Given the description of an element on the screen output the (x, y) to click on. 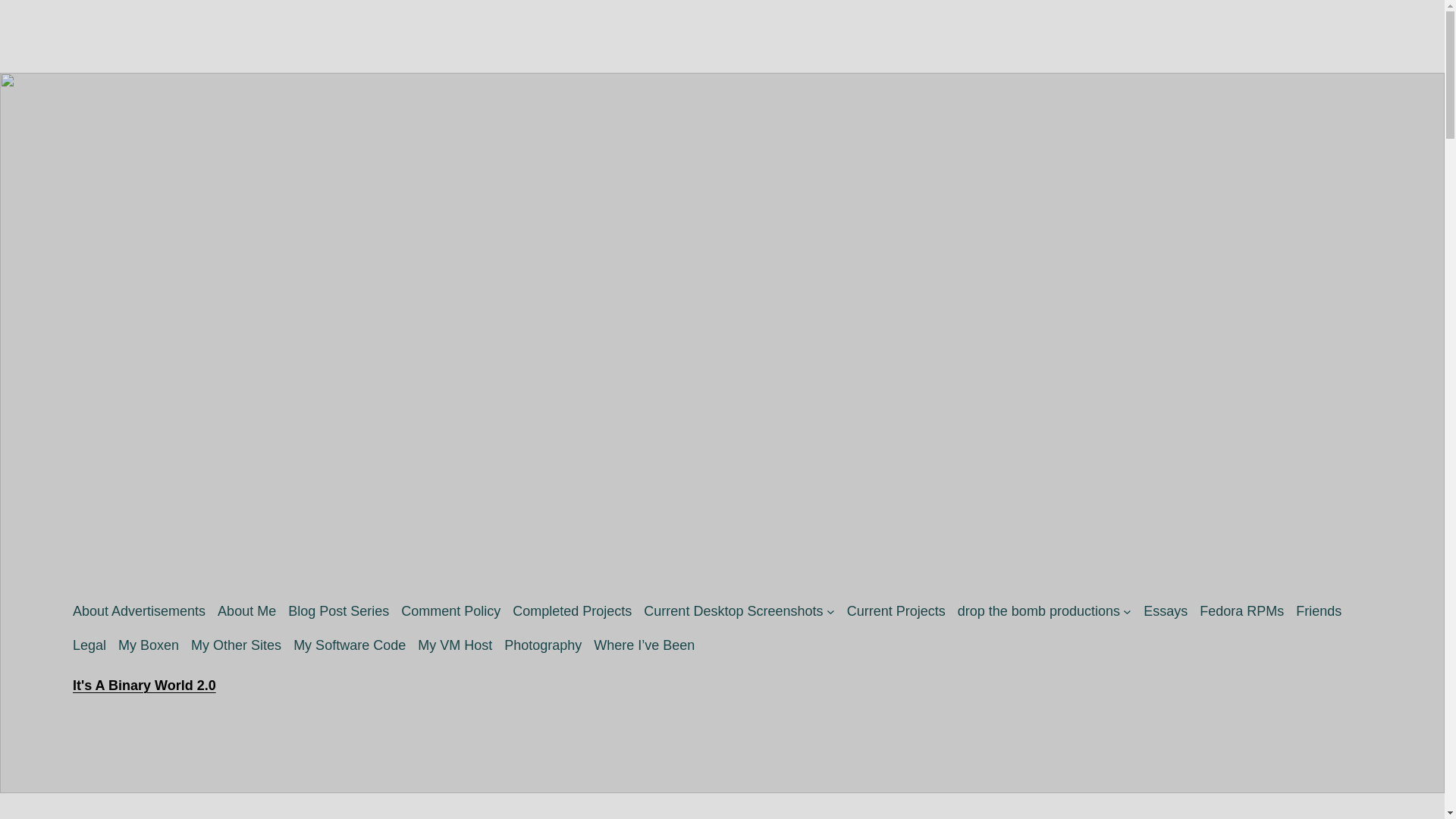
Current Desktop Screenshots (732, 611)
Legal (89, 645)
Essays (1165, 611)
Comment Policy (450, 611)
drop the bomb productions (1038, 611)
About Advertisements (138, 611)
Fedora RPMs (1241, 611)
About Me (246, 611)
Blog Post Series (338, 611)
Friends (1317, 611)
Completed Projects (571, 611)
Current Projects (895, 611)
